Given the description of an element on the screen output the (x, y) to click on. 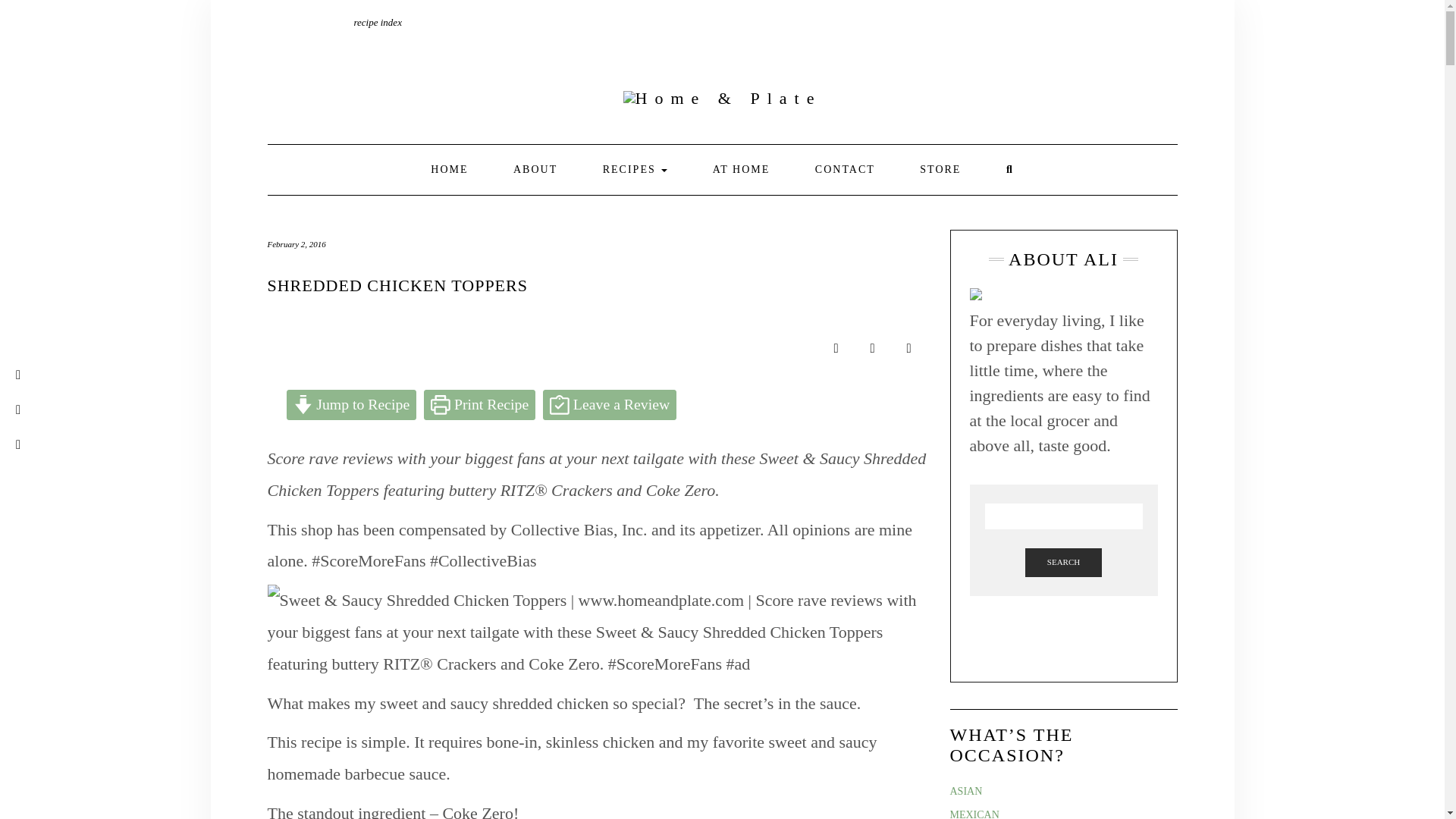
Jump to Recipe (351, 404)
Email (276, 21)
Pinterest (339, 21)
Email (276, 21)
RECIPES (635, 169)
ABOUT (535, 169)
CONTACT (844, 169)
Leave a Review (610, 404)
SEARCH HERE (1009, 169)
Facebook (298, 21)
Instagram (318, 21)
recipe index (377, 21)
Instagram (318, 21)
STORE (940, 169)
Pinterest (339, 21)
